Given the description of an element on the screen output the (x, y) to click on. 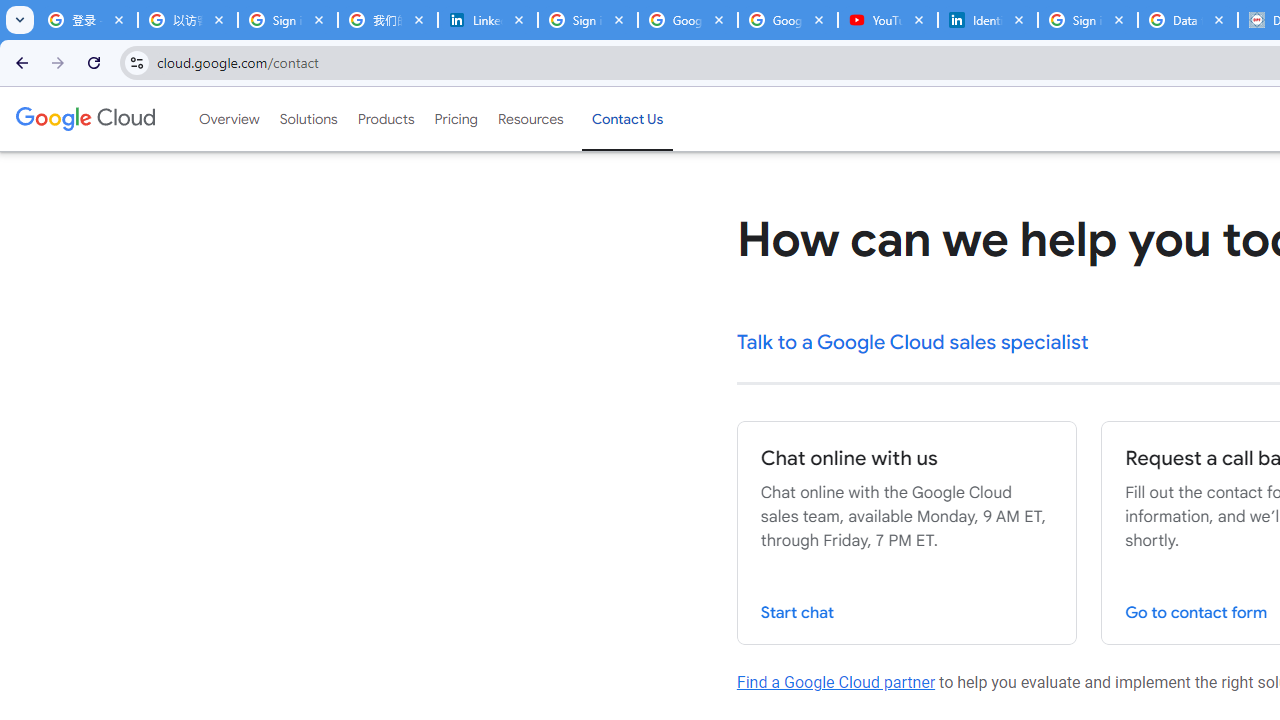
Products (385, 119)
Sign in - Google Accounts (587, 20)
Sign in - Google Accounts (287, 20)
Solutions (308, 119)
Contact Us (627, 119)
Pricing (455, 119)
